Given the description of an element on the screen output the (x, y) to click on. 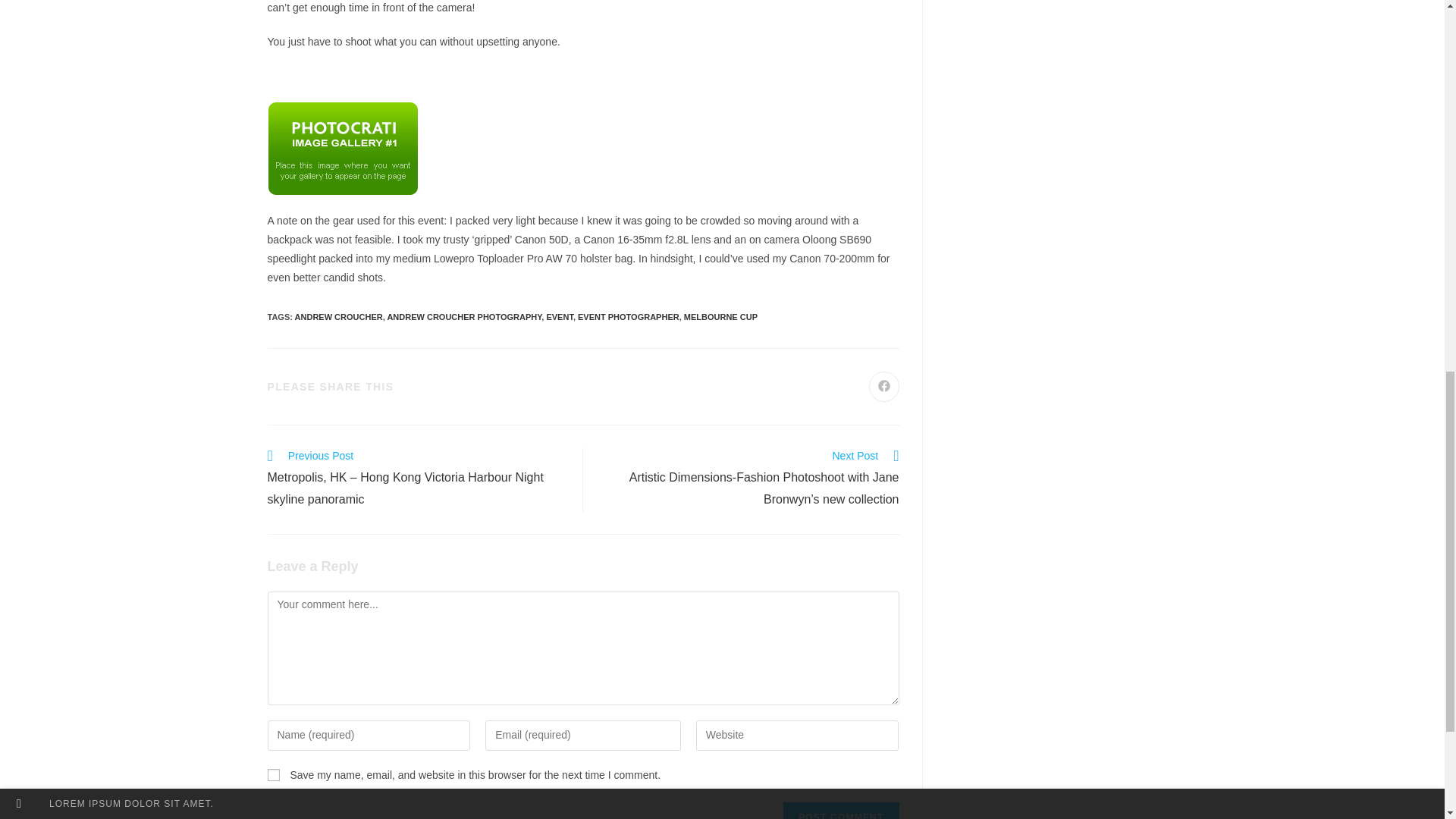
EVENT (559, 316)
yes (272, 775)
ANDREW CROUCHER PHOTOGRAPHY (464, 316)
ANDREW CROUCHER (338, 316)
Post Comment (840, 810)
MELBOURNE CUP (720, 316)
EVENT PHOTOGRAPHER (628, 316)
